Given the description of an element on the screen output the (x, y) to click on. 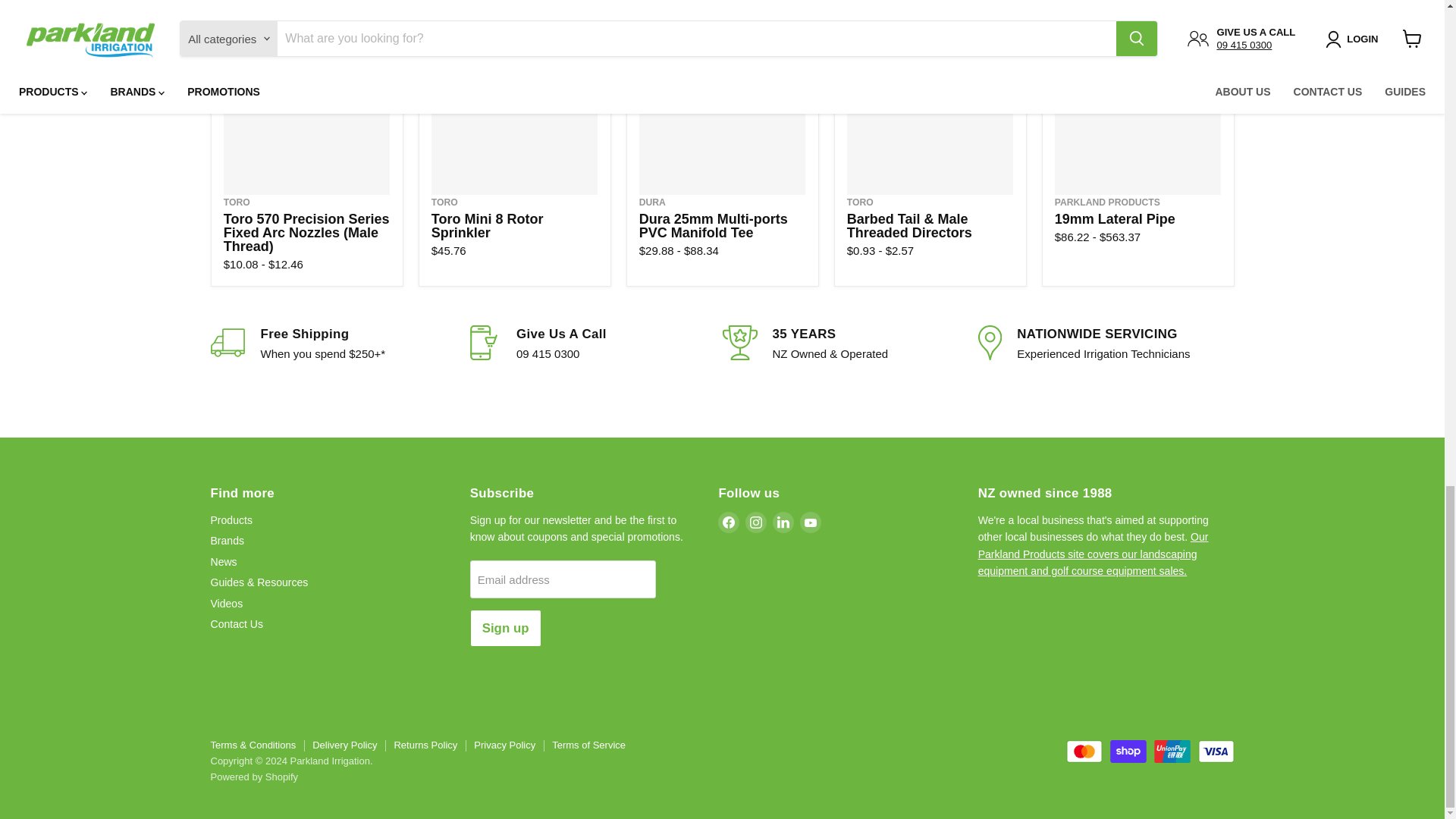
Mastercard (1083, 751)
Instagram (756, 522)
Toro (444, 202)
Union Pay (1172, 751)
Toro (237, 202)
Dura (652, 202)
Facebook (728, 522)
LinkedIn (783, 522)
Shop Pay (1128, 751)
Toro (860, 202)
Parkland Products (1107, 202)
YouTube (810, 522)
